Given the description of an element on the screen output the (x, y) to click on. 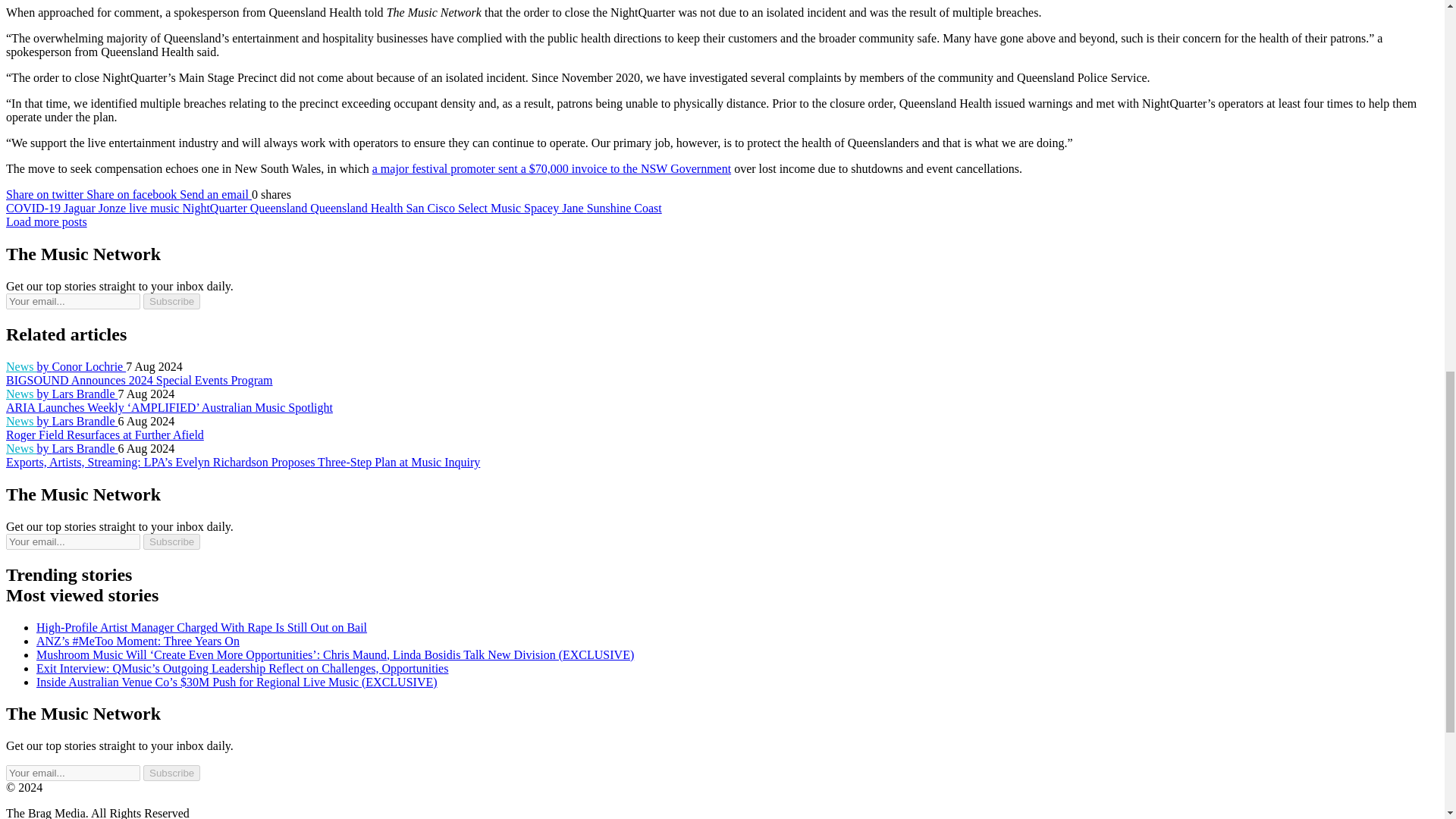
Subscribe (171, 541)
Subscribe (171, 772)
Subscribe (171, 301)
